Given the description of an element on the screen output the (x, y) to click on. 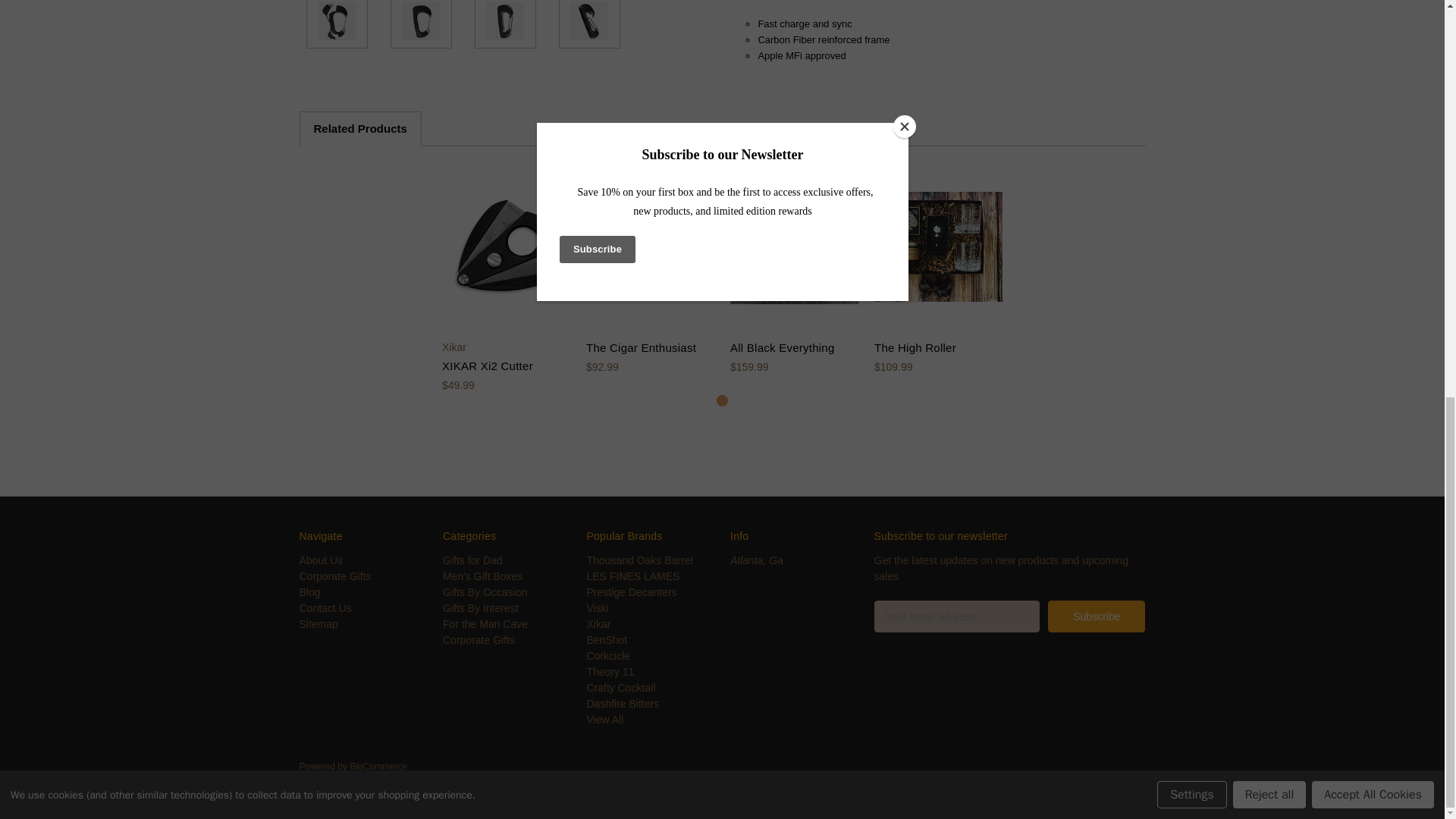
Smile.io Rewards Program Launcher (69, 16)
All Black Everything (794, 246)
The High Roller  (939, 246)
XIKAR Xi2 Cutter (506, 246)
Subscribe (1096, 616)
The Cigar Enthusiast (650, 246)
